Given the description of an element on the screen output the (x, y) to click on. 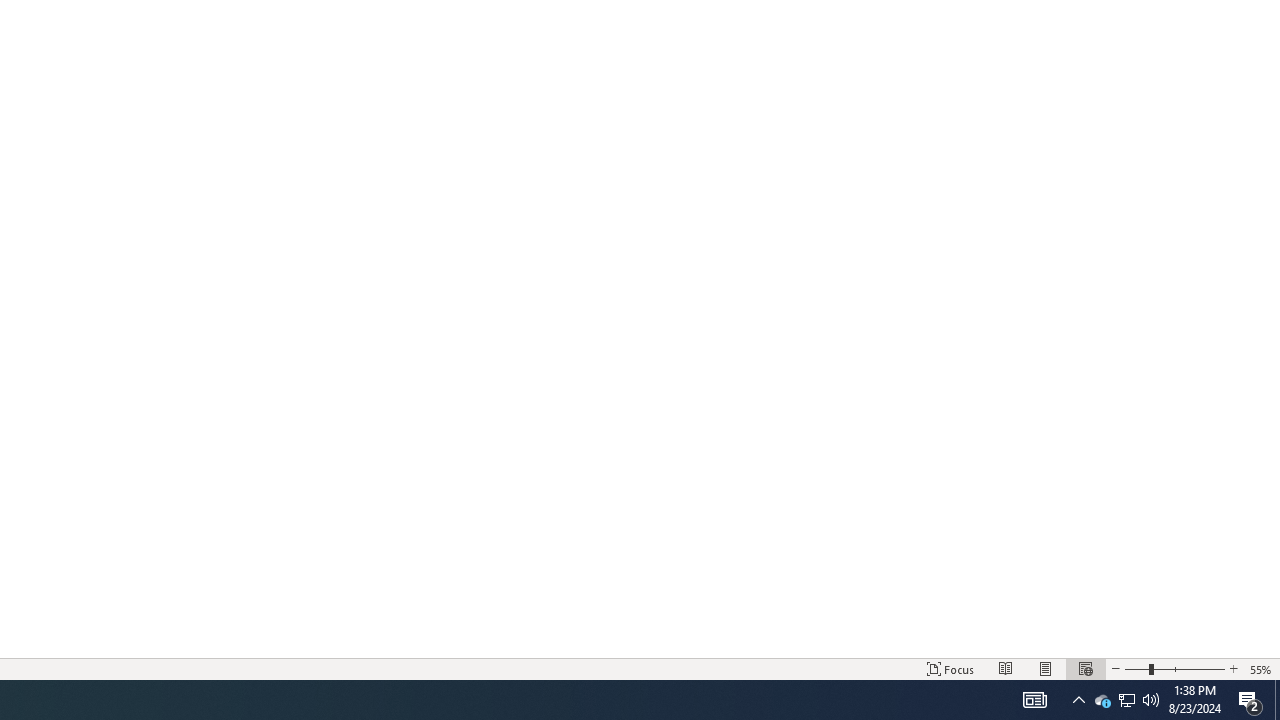
Zoom 55% (1261, 668)
